Given the description of an element on the screen output the (x, y) to click on. 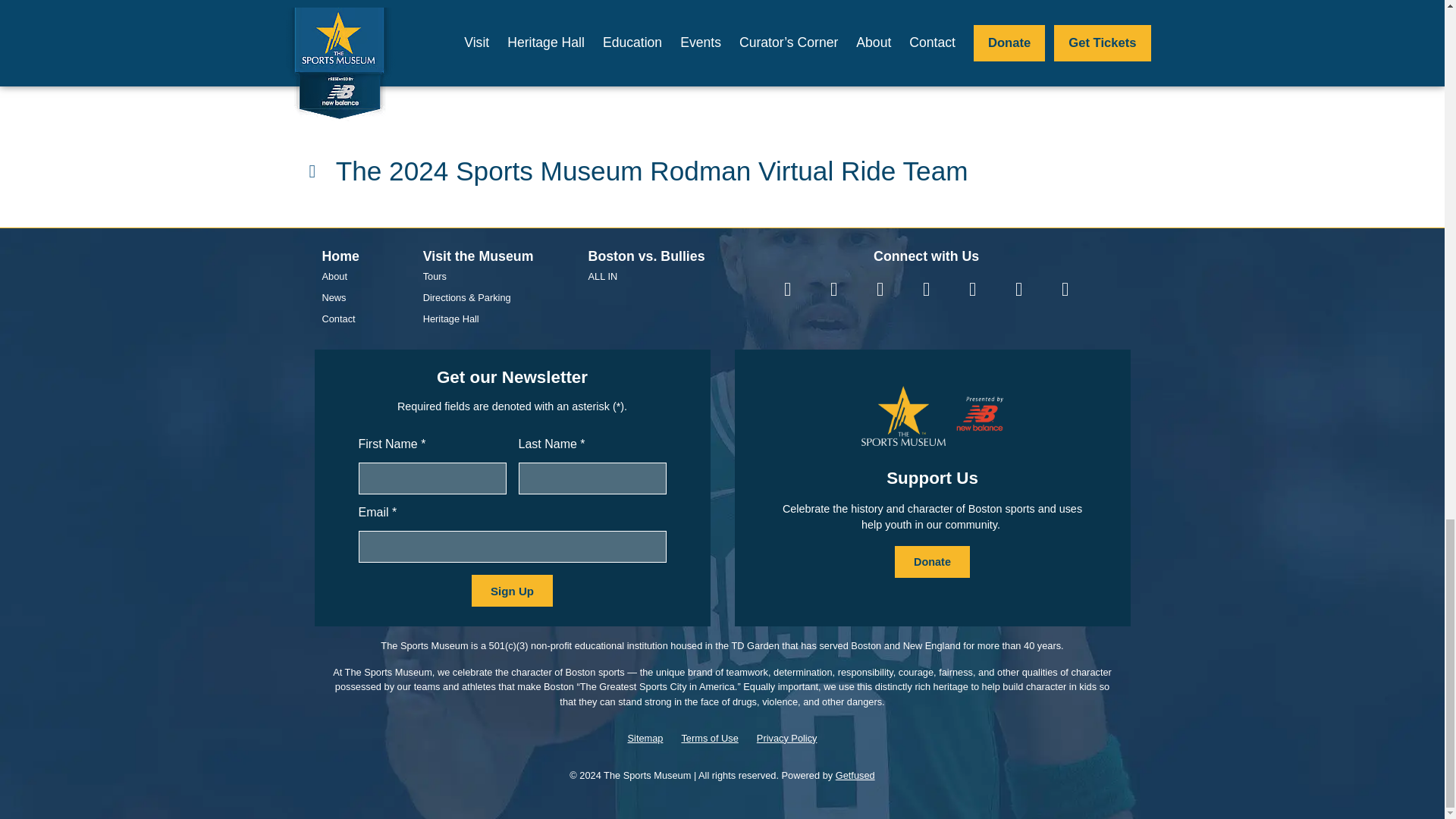
Sign Up (512, 590)
Follow us on Instagram (926, 289)
Find us on Tripadvisor (1064, 289)
Find us on Yelp (1018, 289)
Find us on Facebook (833, 289)
Find us on YouTube (879, 289)
Follow us on LinkedIn (972, 289)
Follow us on Twitter (787, 289)
